Given the description of an element on the screen output the (x, y) to click on. 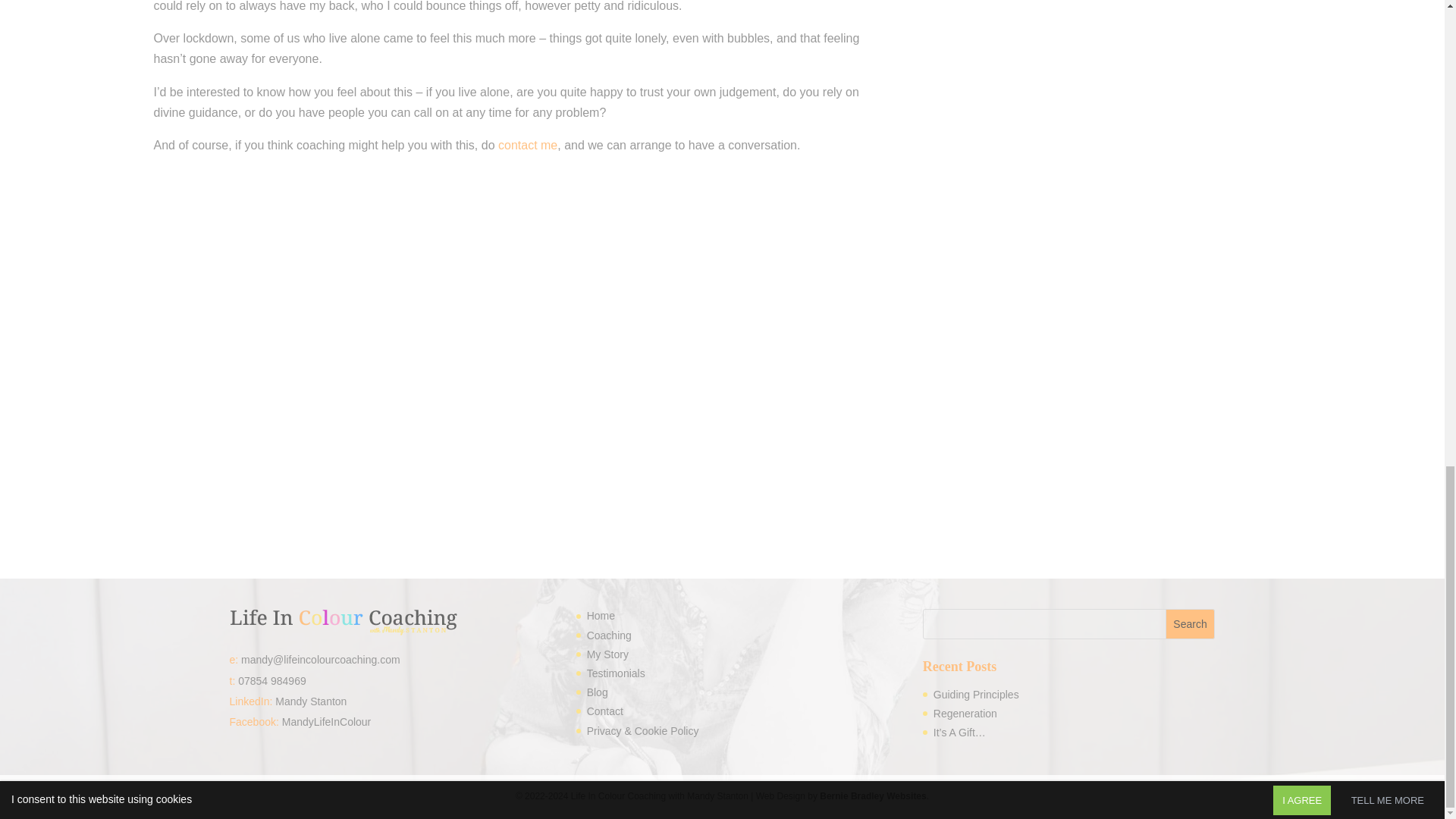
Email Mandy (320, 659)
contact me (527, 144)
Get in touch (527, 144)
